Given the description of an element on the screen output the (x, y) to click on. 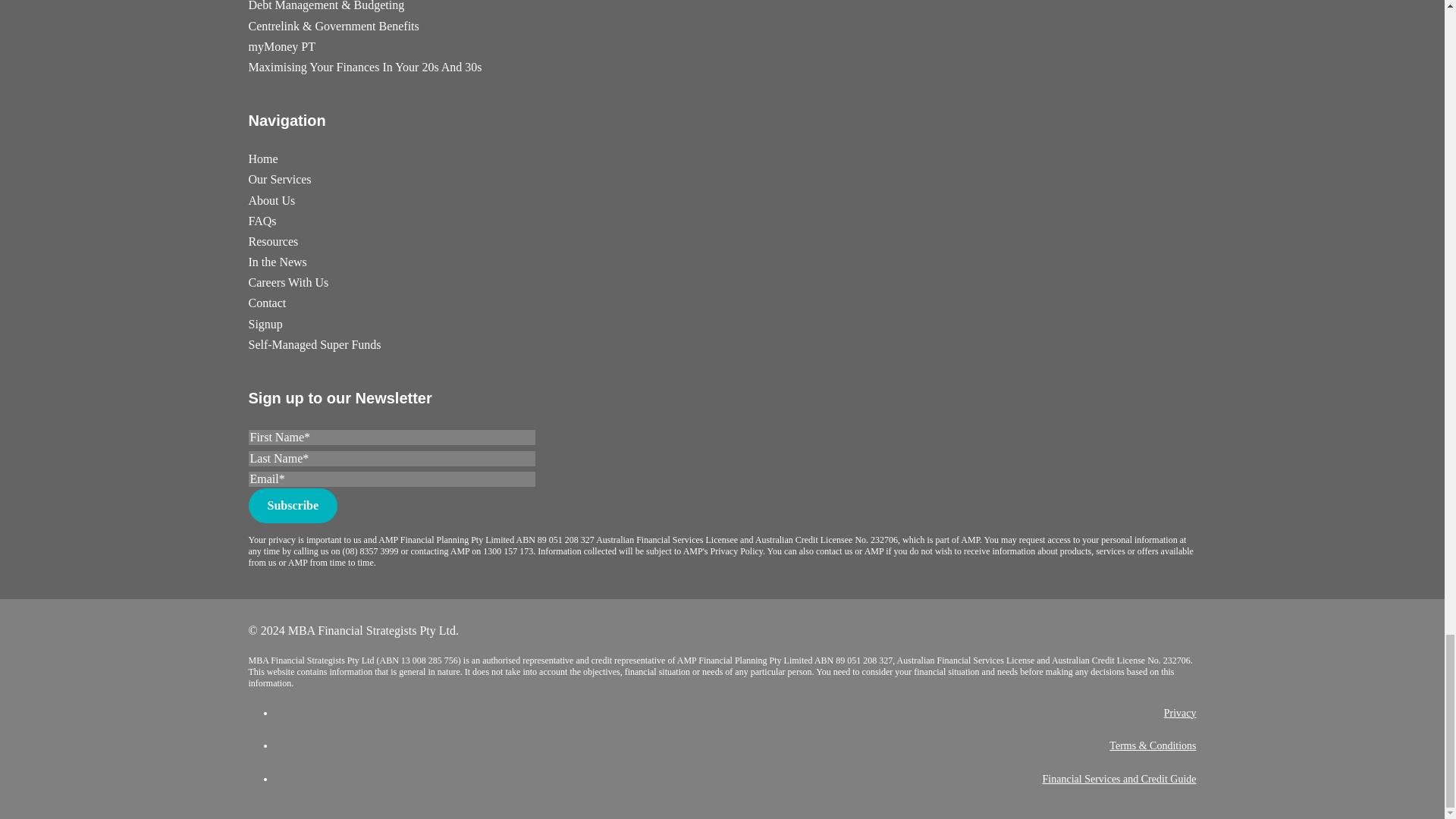
Subscribe (292, 505)
